Given the description of an element on the screen output the (x, y) to click on. 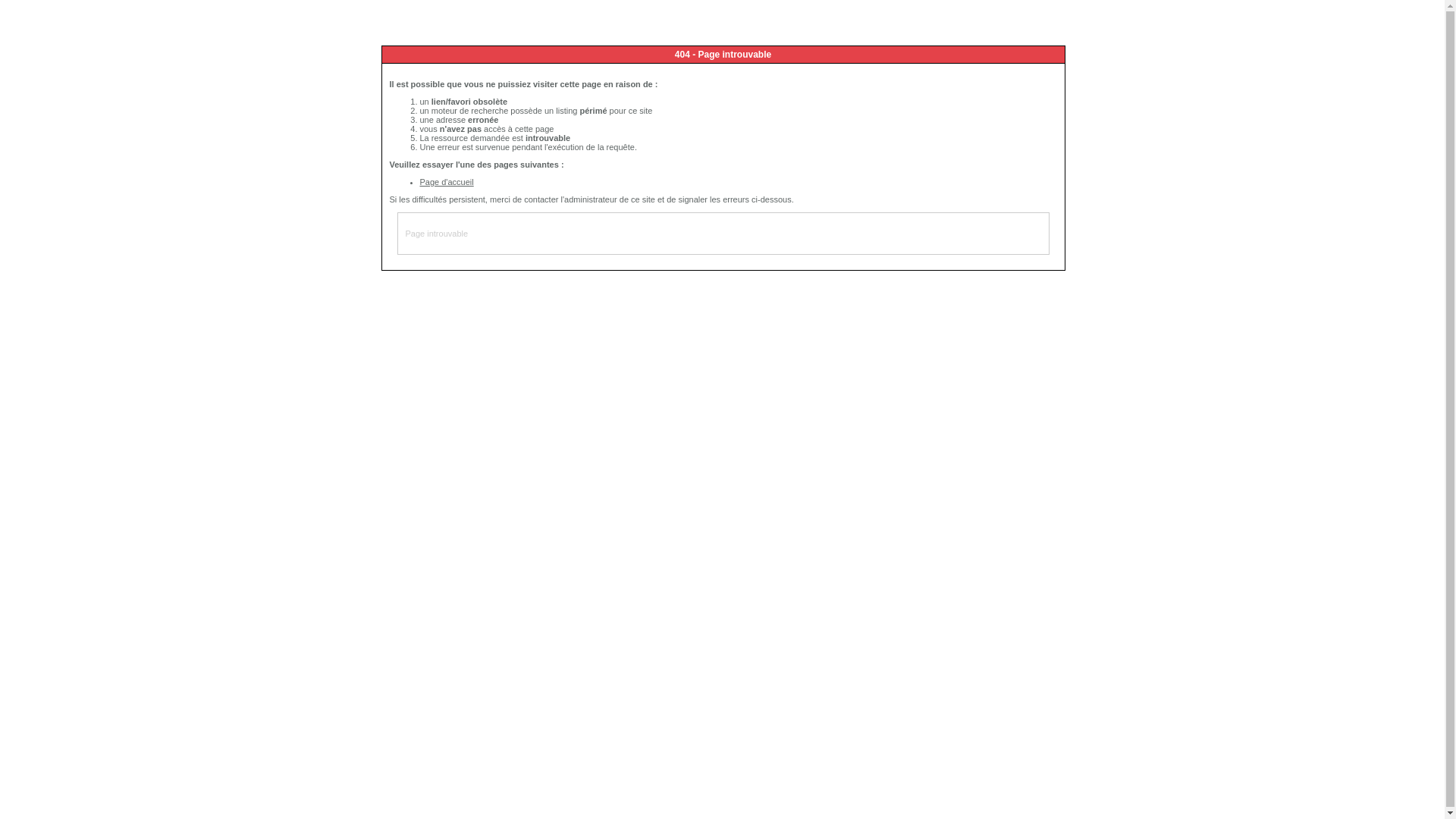
Page d'accueil Element type: text (446, 181)
